Given the description of an element on the screen output the (x, y) to click on. 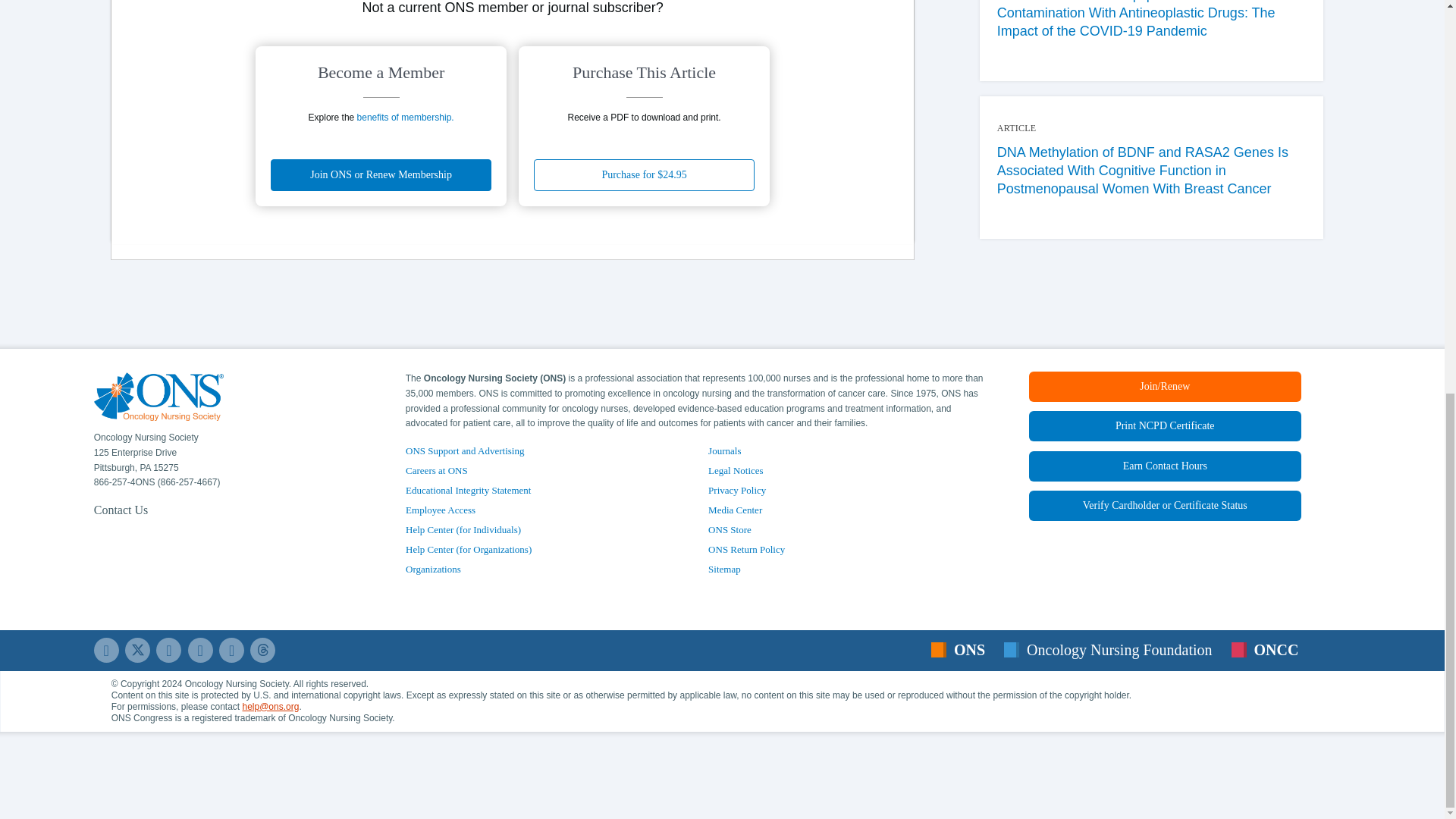
Help Center (1165, 505)
twitter (137, 650)
ONS Logo (159, 396)
Licensing Opportunities (433, 568)
facebook (106, 650)
